Given the description of an element on the screen output the (x, y) to click on. 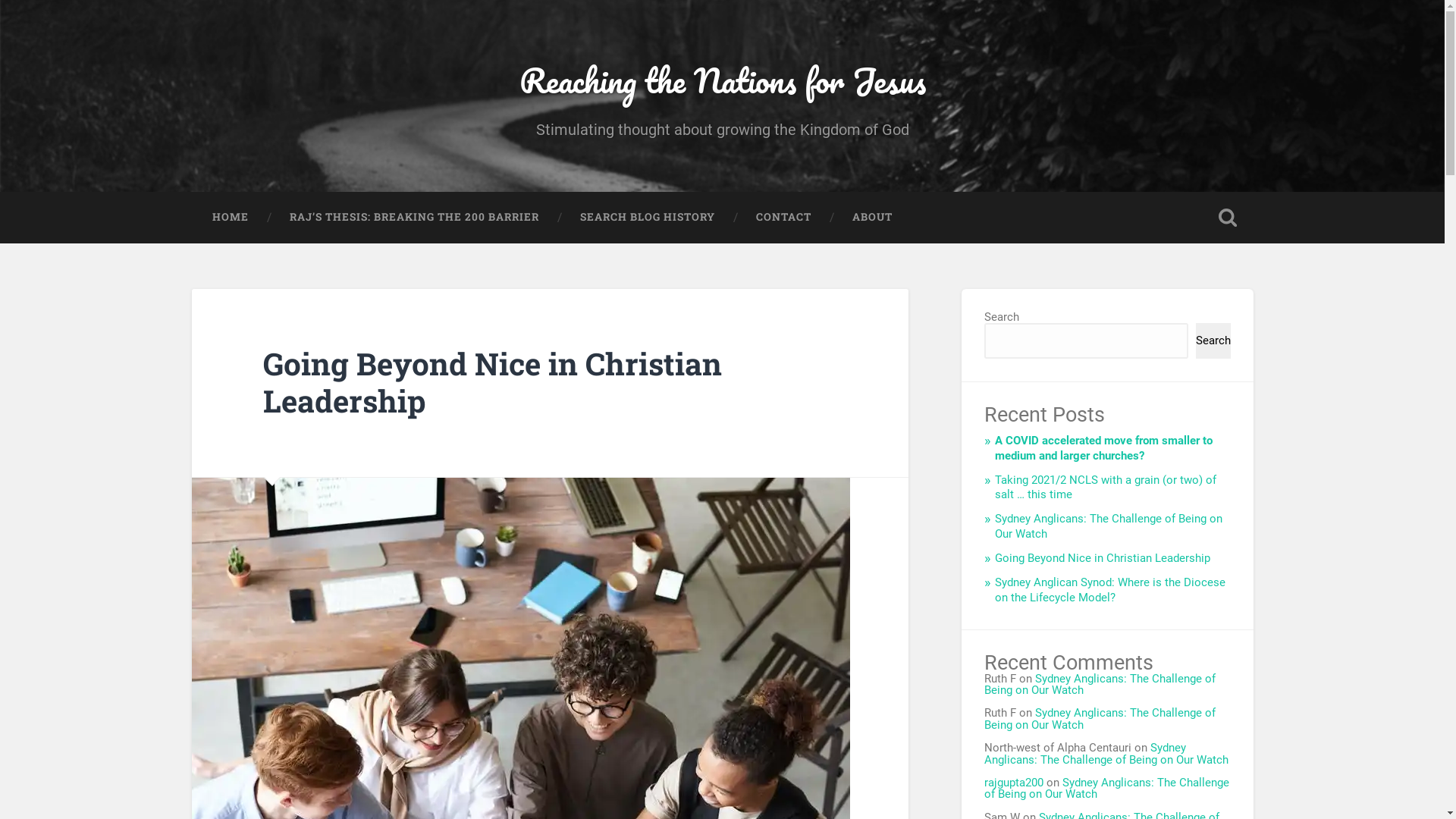
Search Element type: text (1212, 340)
Sydney Anglicans: The Challenge of Being on Our Watch Element type: text (1099, 683)
Going Beyond Nice in Christian Leadership Element type: text (1102, 557)
SEARCH BLOG HISTORY Element type: text (647, 217)
Sydney Anglicans: The Challenge of Being on Our Watch Element type: text (1106, 752)
CONTACT Element type: text (783, 217)
rajgupta200 Element type: text (1013, 782)
Sydney Anglicans: The Challenge of Being on Our Watch Element type: text (1106, 787)
ABOUT Element type: text (871, 217)
Going Beyond Nice in Christian Leadership Element type: text (492, 381)
HOME Element type: text (229, 217)
Sydney Anglicans: The Challenge of Being on Our Watch Element type: text (1099, 718)
Reaching the Nations for Jesus Element type: text (721, 79)
Sydney Anglicans: The Challenge of Being on Our Watch Element type: text (1108, 525)
